Given the description of an element on the screen output the (x, y) to click on. 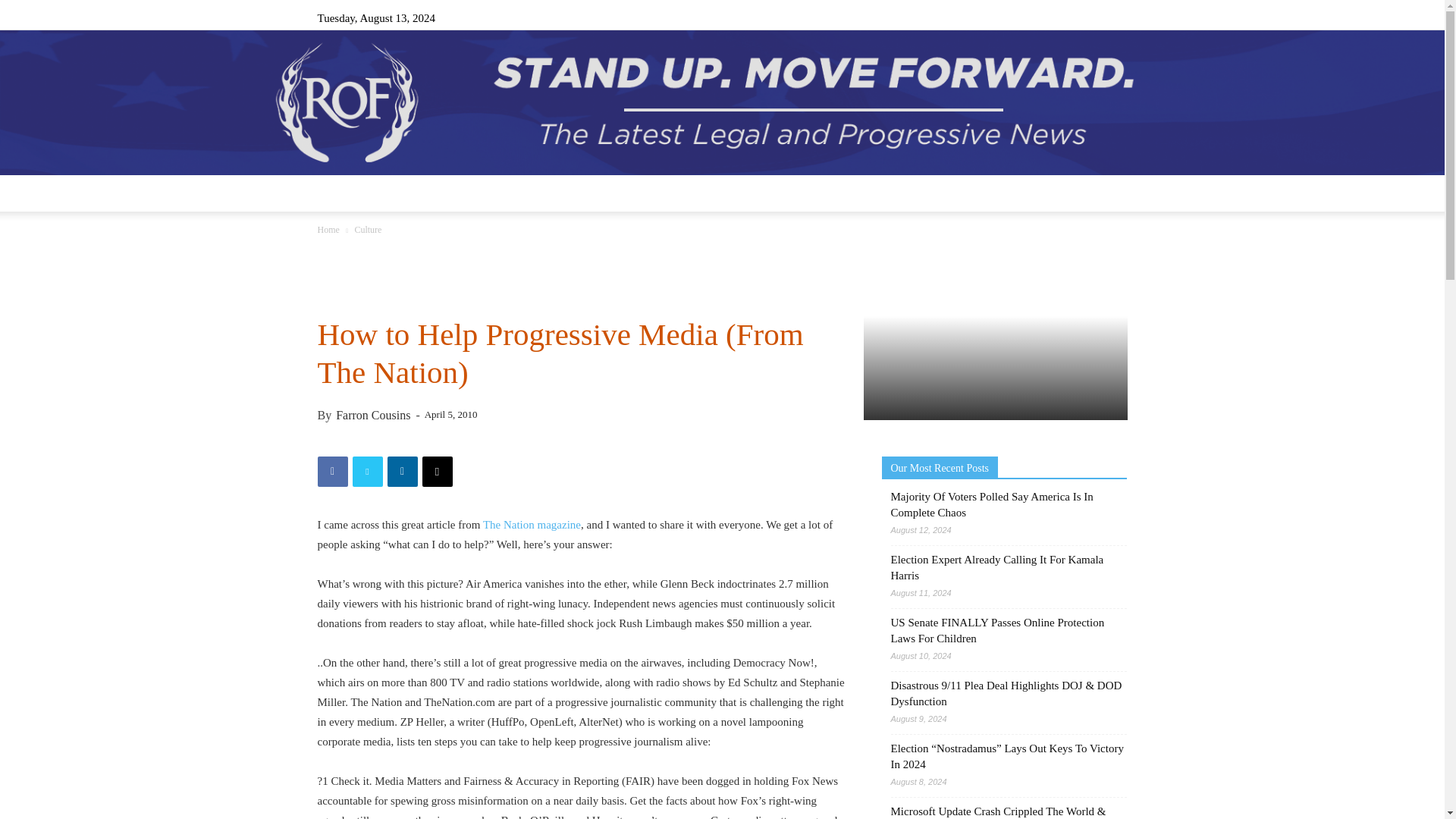
Facebook (1015, 17)
RSS (1065, 17)
Instagram (1040, 17)
Youtube (1114, 17)
Twitter (1090, 17)
